Given the description of an element on the screen output the (x, y) to click on. 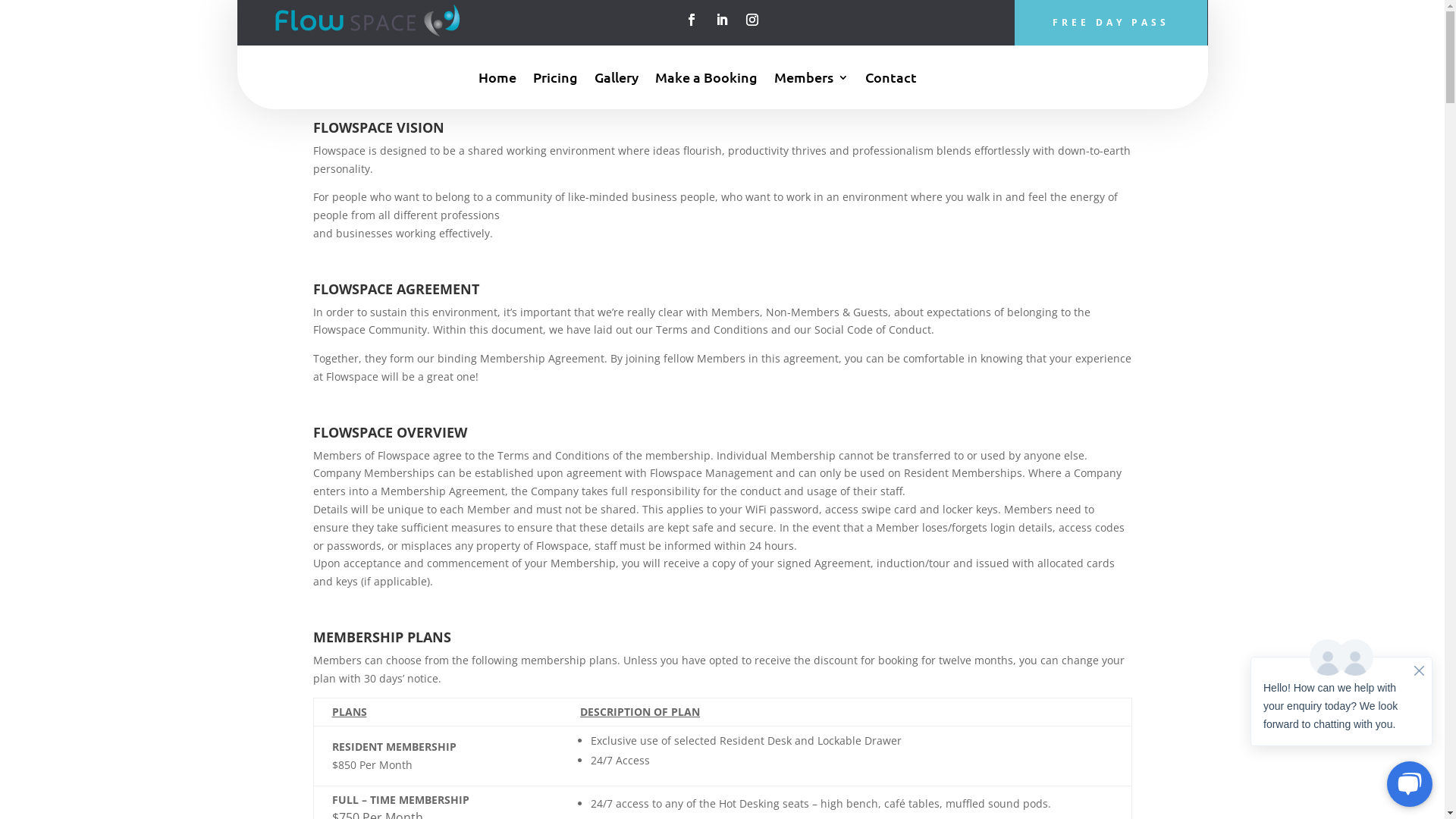
Follow on Facebook Element type: hover (691, 19)
Flowspace Coworking Space North Beach Element type: hover (366, 20)
Pricing Element type: text (554, 80)
Make a Booking Element type: text (706, 80)
Follow on LinkedIn Element type: hover (721, 19)
Members Element type: text (810, 80)
Gallery Element type: text (616, 80)
Follow on Instagram Element type: hover (752, 19)
FREE DAY PASS Element type: text (1110, 22)
Home Element type: text (496, 80)
Contact Element type: text (890, 80)
